Given the description of an element on the screen output the (x, y) to click on. 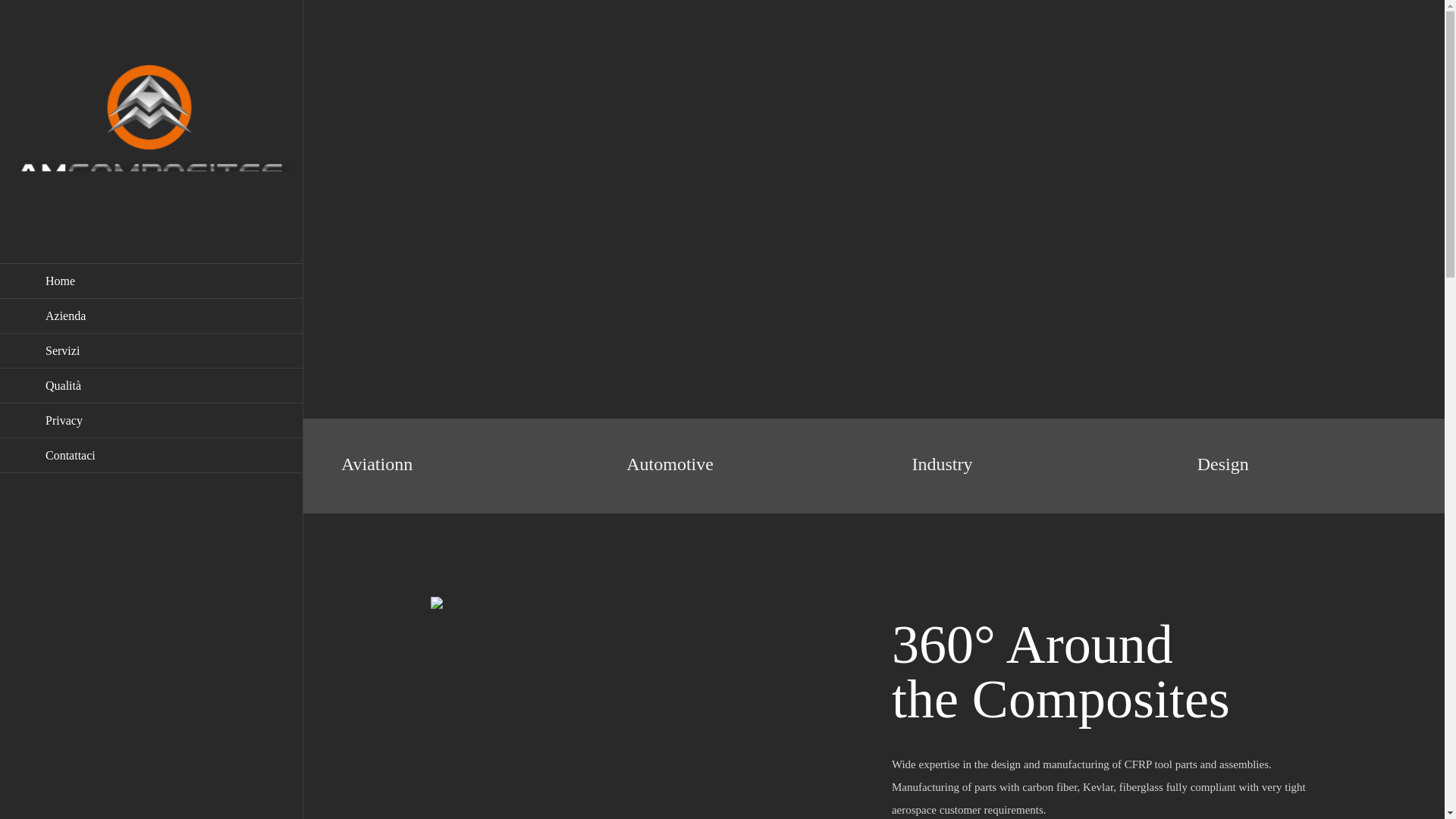
Servizi (151, 350)
Design (1222, 464)
Privacy (151, 420)
Industry (941, 464)
Home (151, 280)
Contattaci (151, 455)
Automotive (669, 464)
Aviationn (376, 464)
Azienda (151, 315)
